Given the description of an element on the screen output the (x, y) to click on. 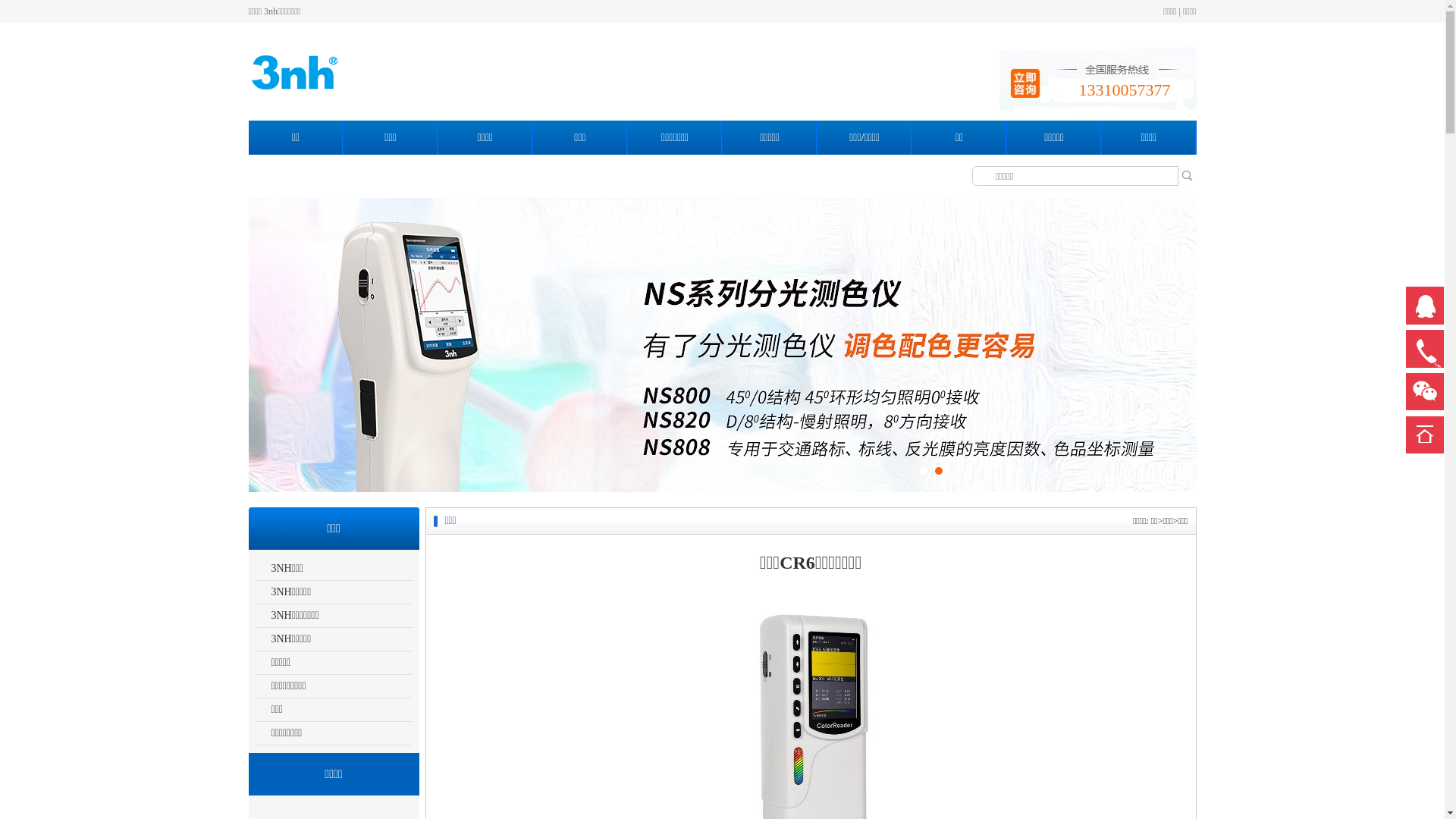
1 Element type: text (922, 470)
2 Element type: text (937, 470)
